Given the description of an element on the screen output the (x, y) to click on. 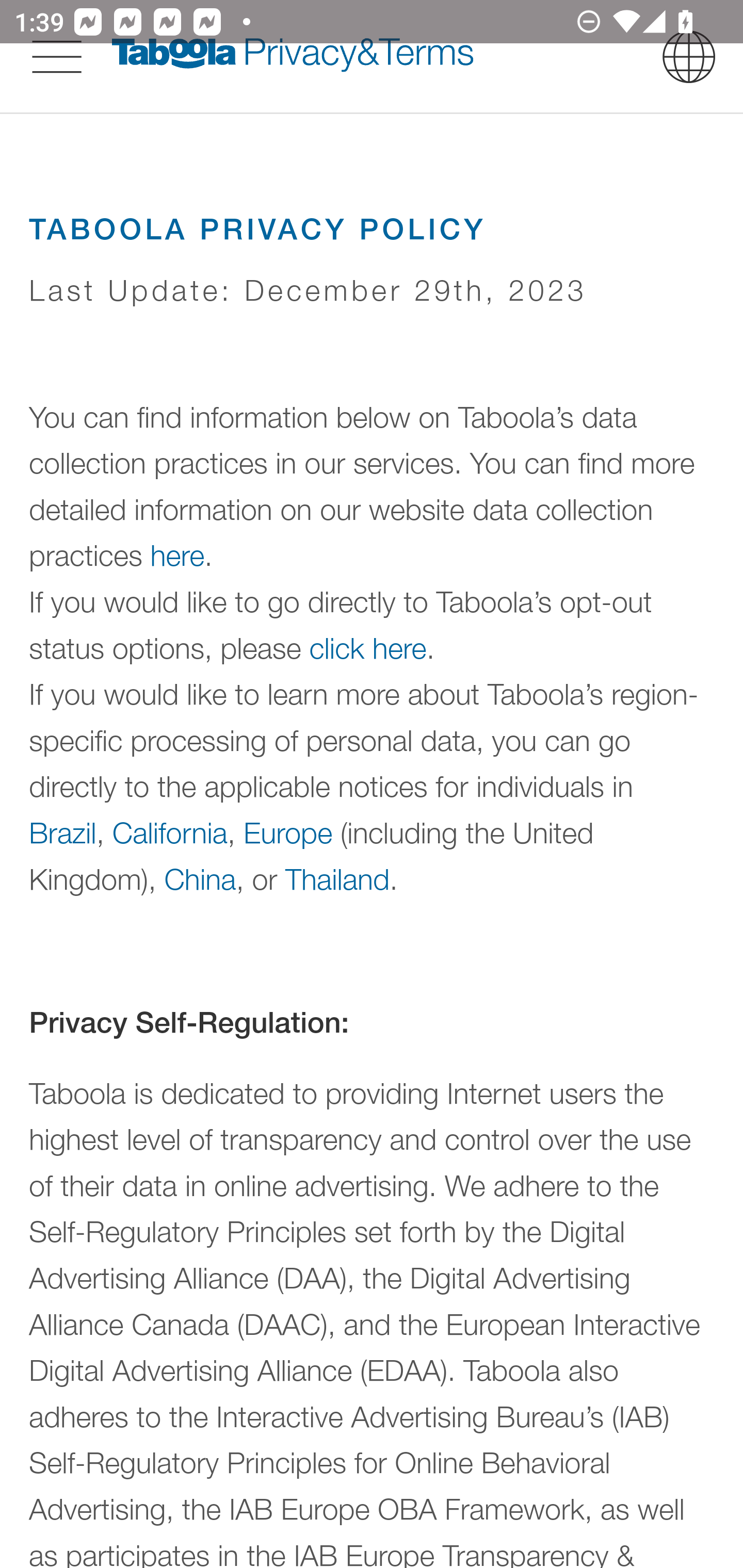
Taboola Privacy & Terms Logo (292, 56)
English (688, 56)
here (177, 555)
click here (367, 648)
Brazil (62, 831)
California (170, 831)
Europe (287, 831)
China (199, 878)
Thailand (337, 878)
